Given the description of an element on the screen output the (x, y) to click on. 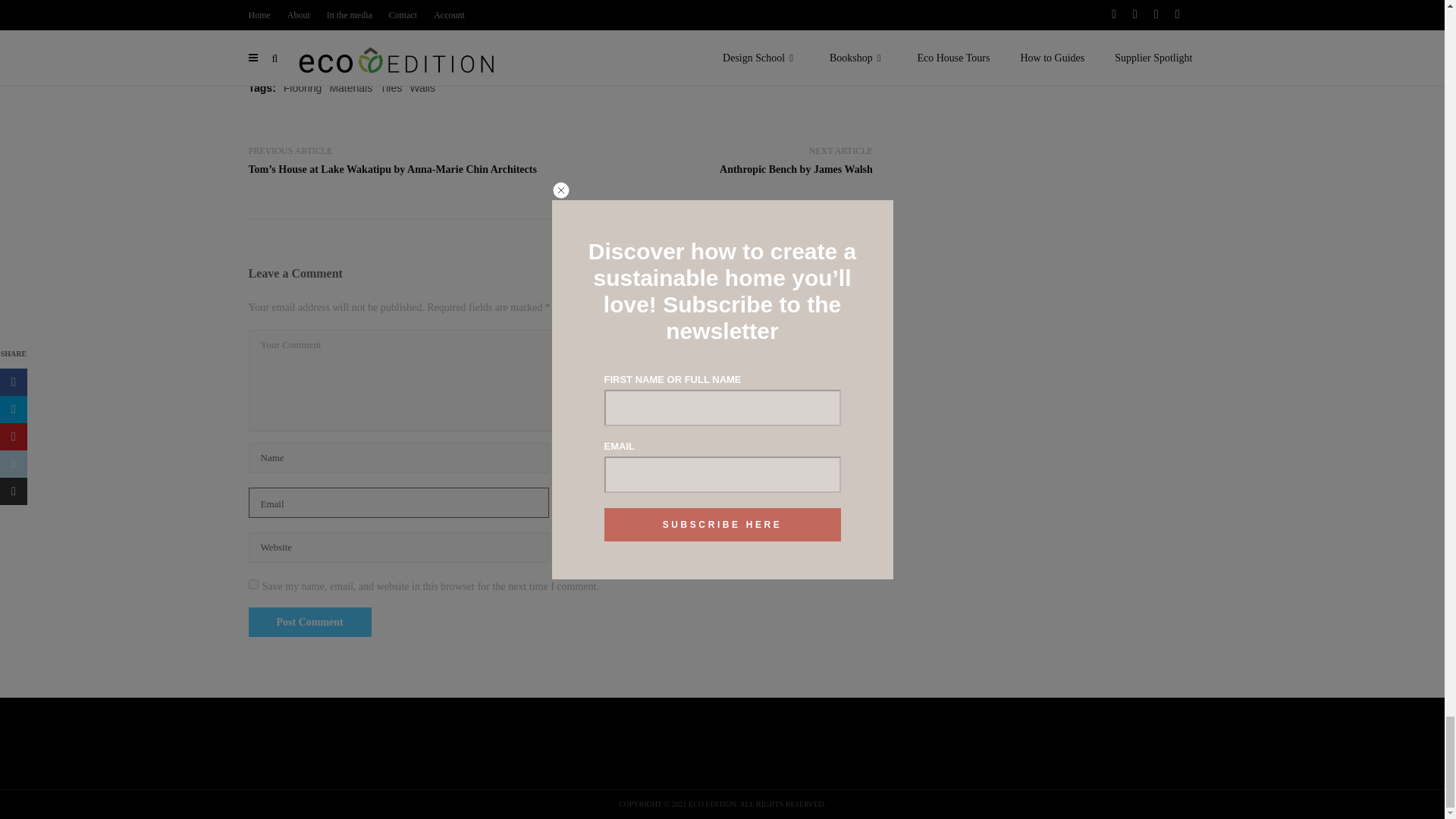
yes (253, 583)
Post Comment (309, 621)
